Given the description of an element on the screen output the (x, y) to click on. 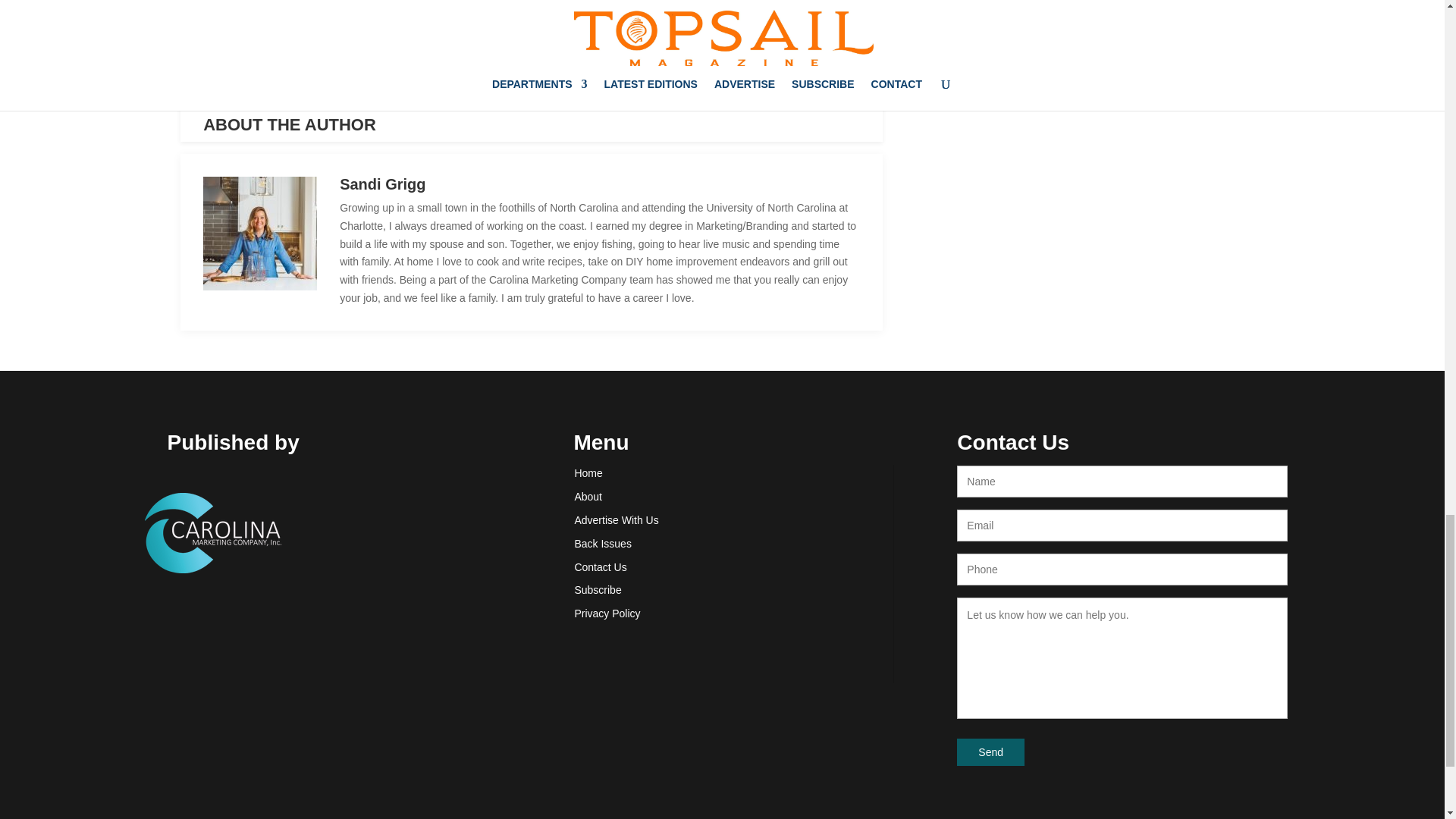
Send (990, 751)
Carolina Marketing Company (212, 533)
